Given the description of an element on the screen output the (x, y) to click on. 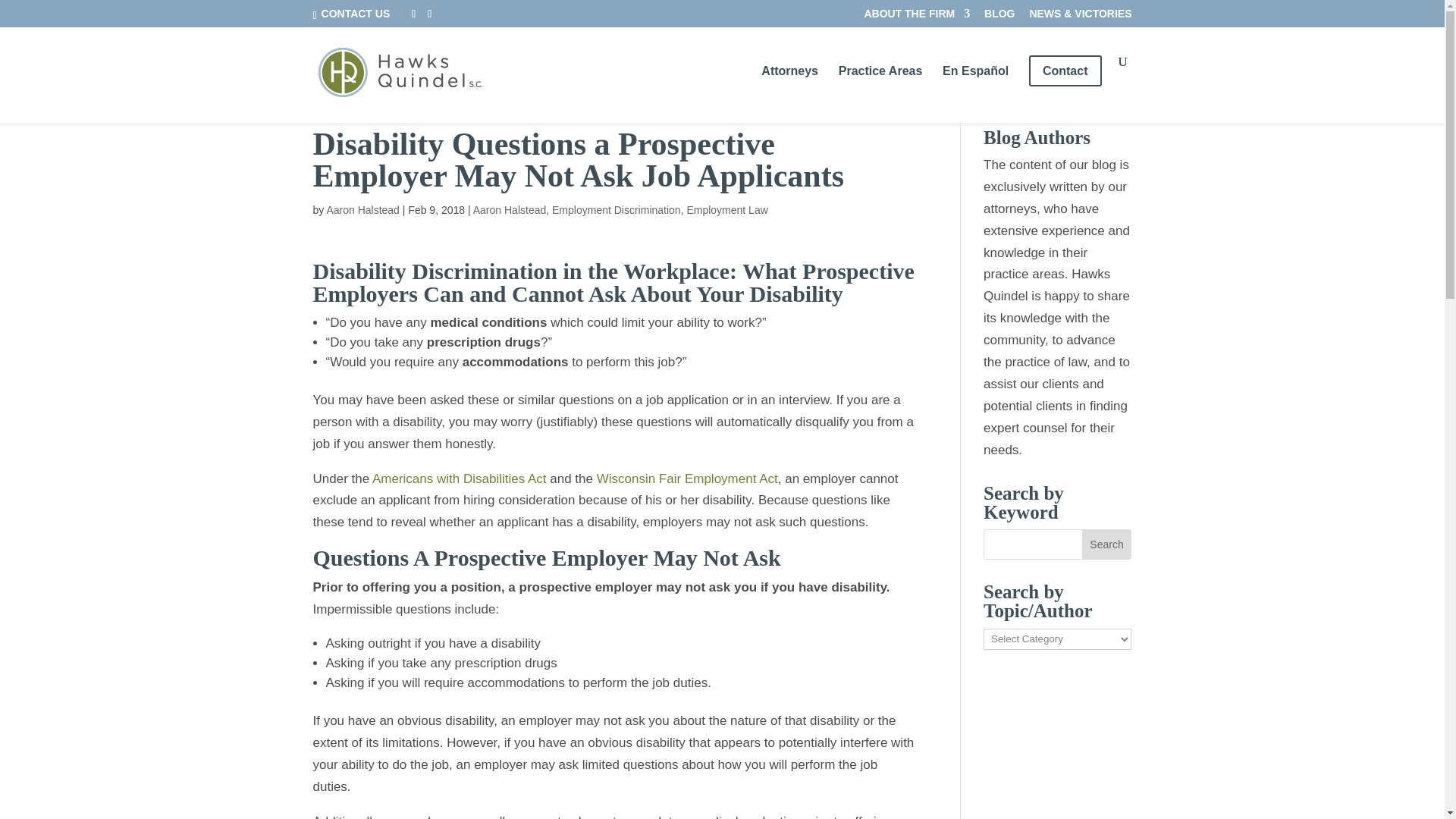
Posts by Aaron Halstead (362, 209)
ABOUT THE FIRM (916, 16)
Search (1106, 544)
CONTACT US (354, 13)
